Given the description of an element on the screen output the (x, y) to click on. 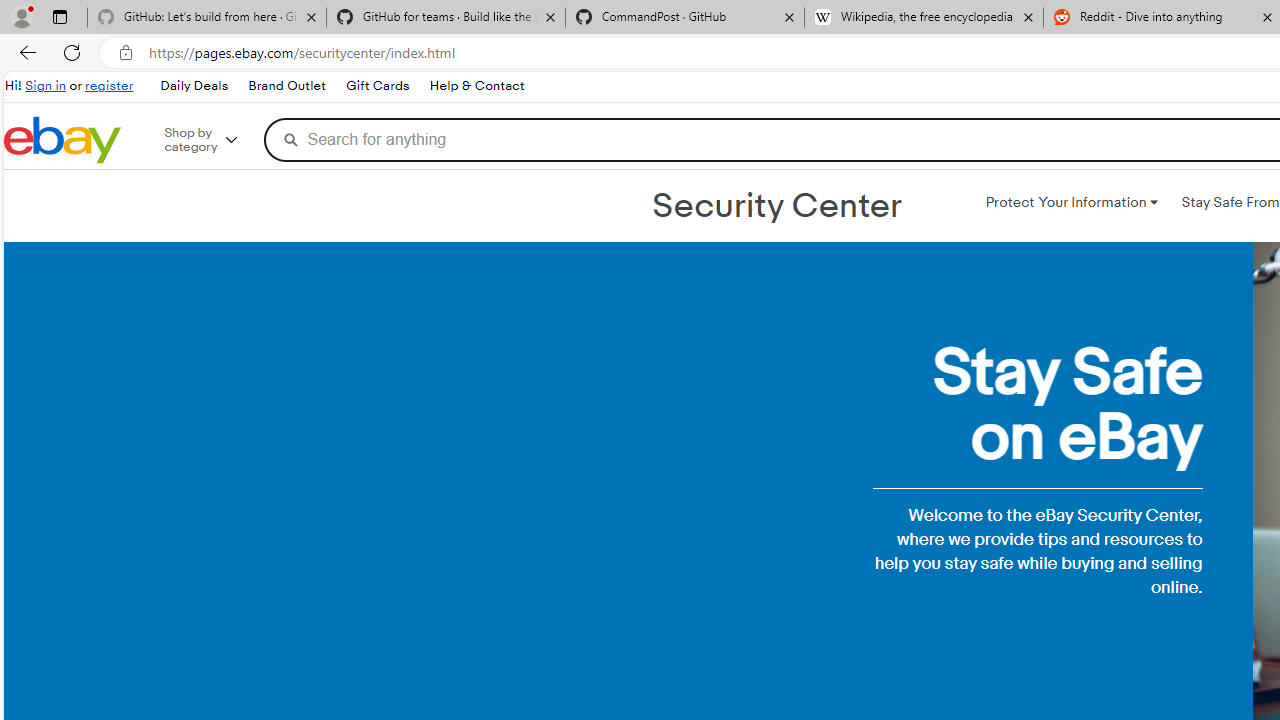
Protect Your Information  (1071, 202)
Shop by category (213, 140)
Security Center (776, 206)
Gift Cards (376, 85)
Wikipedia, the free encyclopedia (924, 17)
Help & Contact (475, 85)
Brand Outlet (285, 85)
